Given the description of an element on the screen output the (x, y) to click on. 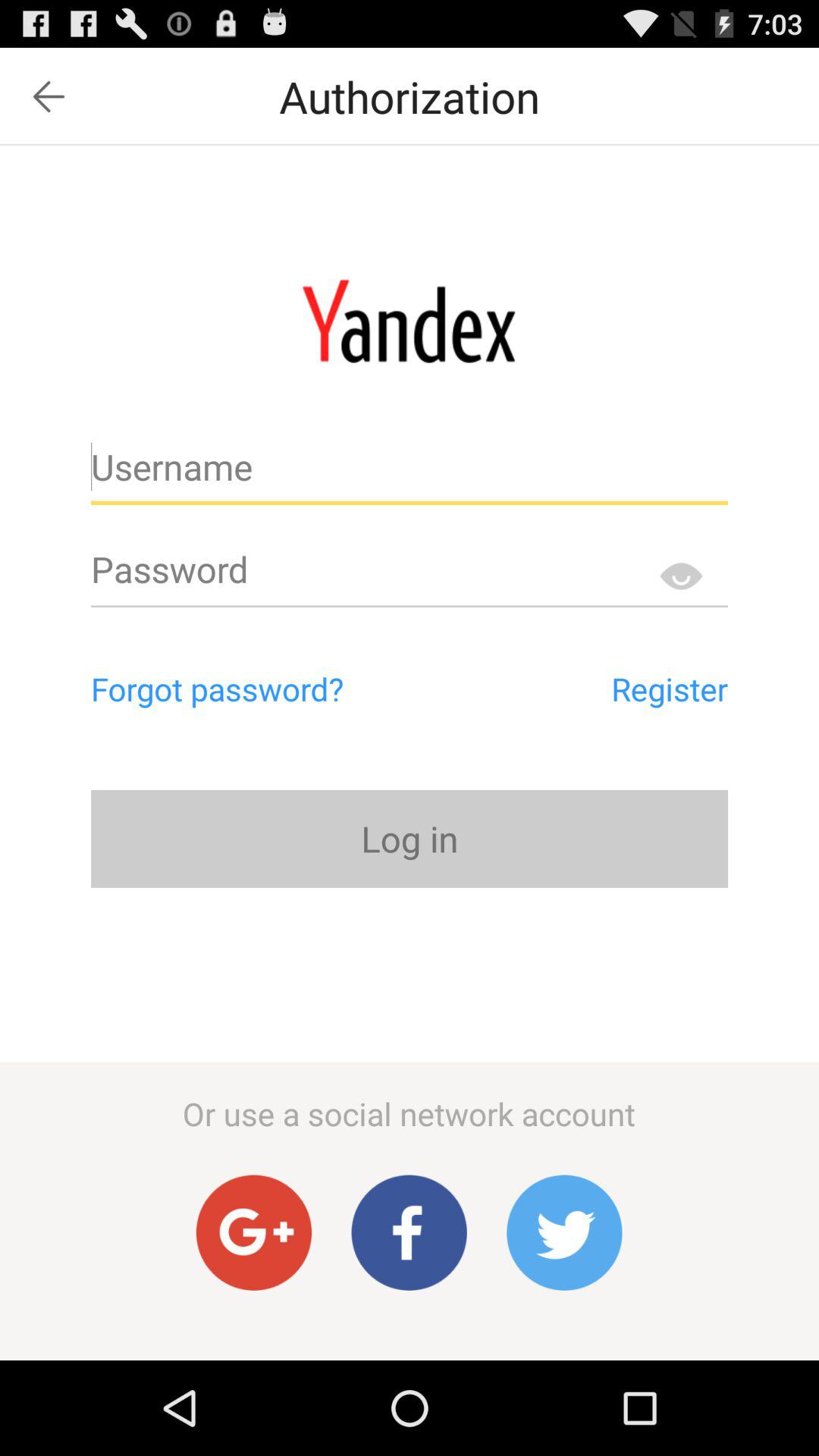
press item next to authorization icon (48, 96)
